Given the description of an element on the screen output the (x, y) to click on. 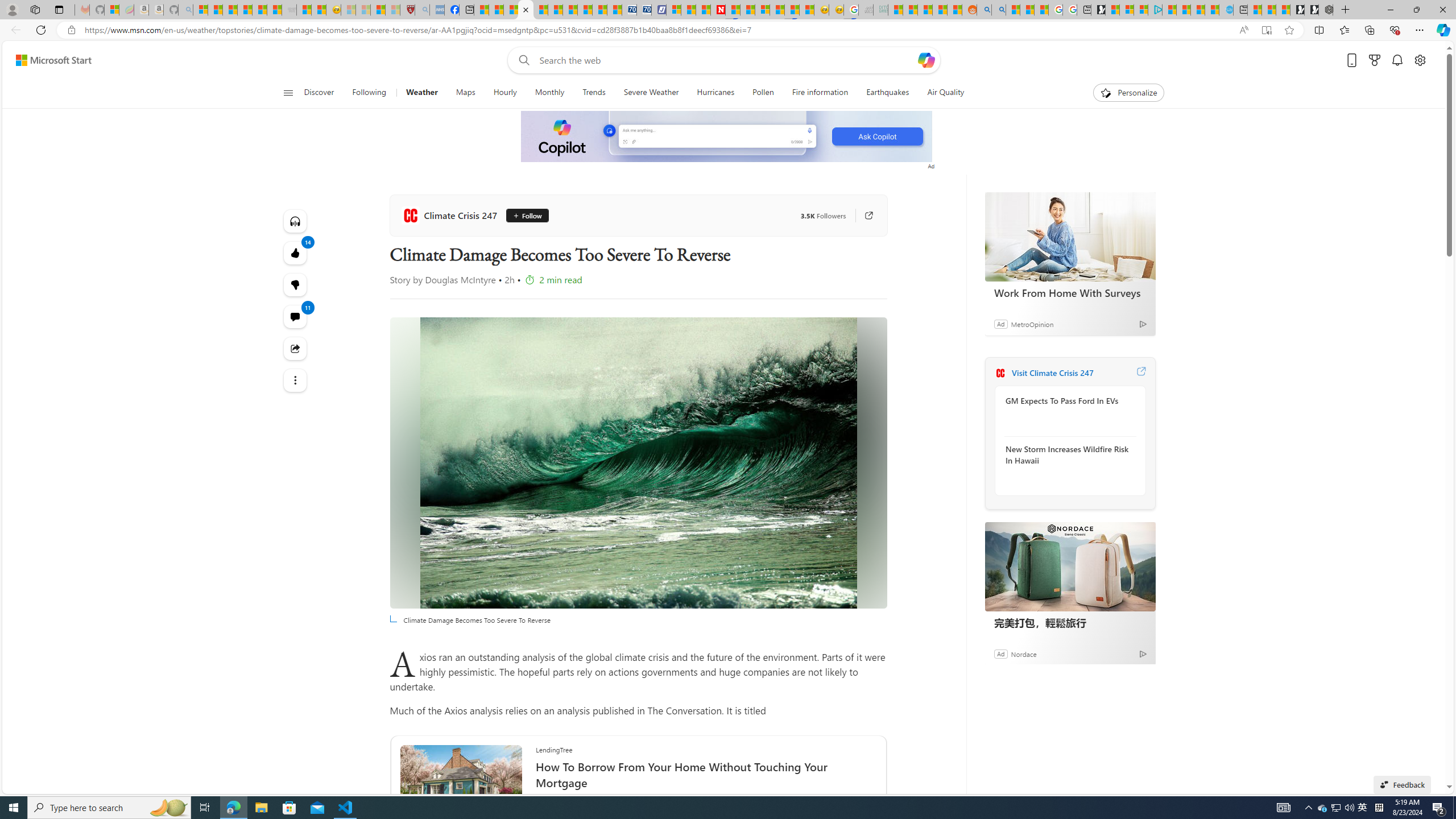
14 Common Myths Debunked By Scientific Facts (747, 9)
Robert H. Shmerling, MD - Harvard Health (406, 9)
14 (295, 284)
Fire information (820, 92)
Pollen (763, 92)
